Given the description of an element on the screen output the (x, y) to click on. 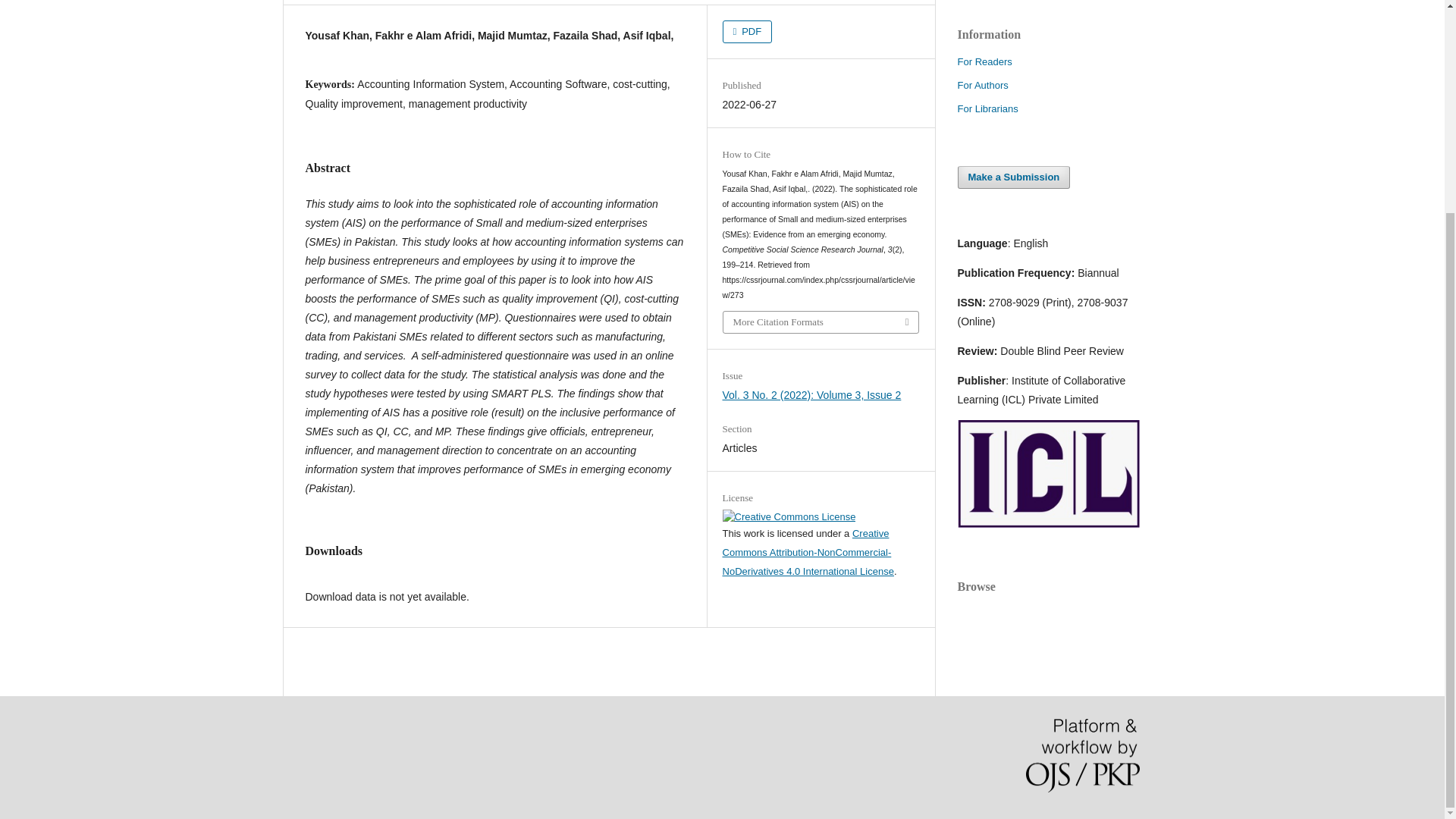
PDF (747, 31)
More Citation Formats (820, 322)
